Given the description of an element on the screen output the (x, y) to click on. 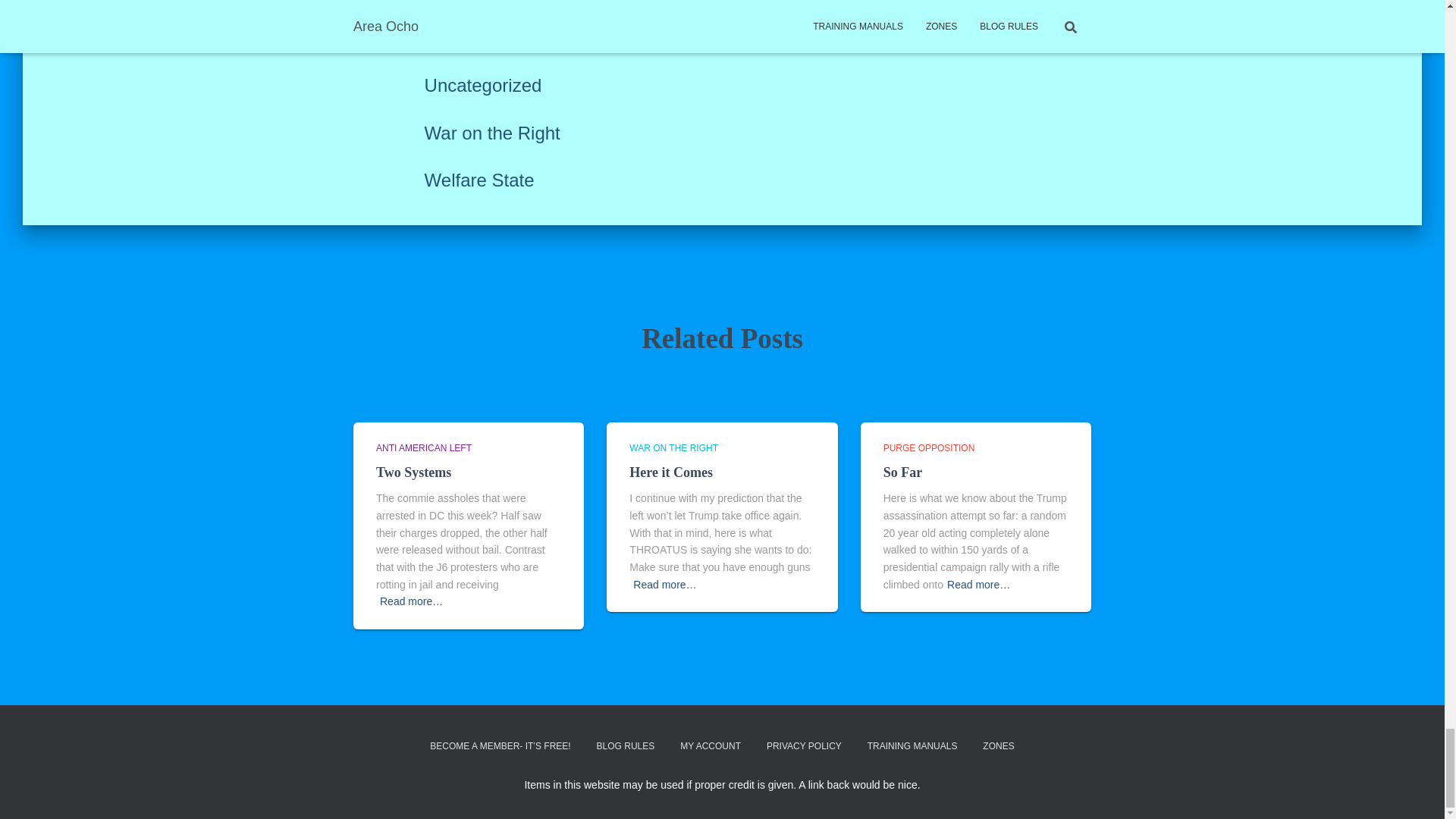
Two Systems (413, 472)
Here it Comes (670, 472)
View all posts in Purge opposition (929, 448)
So Far (903, 472)
View all posts in Anti American left (423, 448)
View all posts in War on the Right (672, 448)
